Given the description of an element on the screen output the (x, y) to click on. 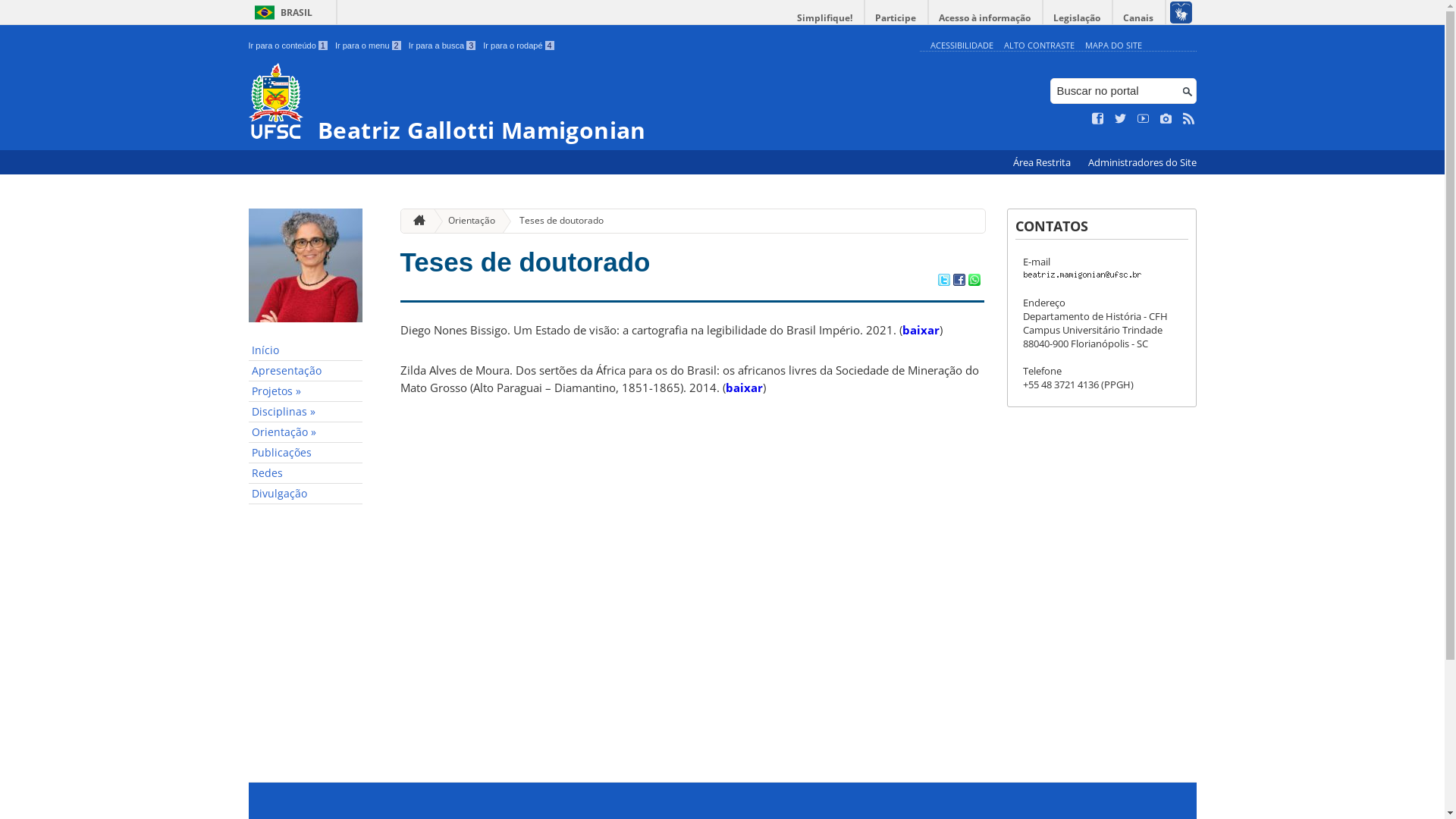
MAPA DO SITE Element type: text (1112, 44)
Veja no Instagram Element type: hover (1166, 118)
Ir para o menu 2 Element type: text (368, 45)
Compartilhar no Twitter Element type: hover (943, 280)
Redes Element type: text (305, 473)
Simplifique! Element type: text (825, 18)
baixar Element type: text (920, 329)
Administradores do Site Element type: text (1141, 162)
Siga no Twitter Element type: hover (1120, 118)
Ir para a busca 3 Element type: text (442, 45)
Compartilhar no WhatsApp Element type: hover (973, 280)
BRASIL Element type: text (280, 12)
Curta no Facebook Element type: hover (1098, 118)
ACESSIBILIDADE Element type: text (960, 44)
Canais Element type: text (1138, 18)
Compartilhar no Facebook Element type: hover (958, 280)
Teses de doutorado Element type: text (525, 261)
Participe Element type: text (895, 18)
ALTO CONTRASTE Element type: text (1039, 44)
Beatriz Gallotti Mamigonian Element type: text (580, 102)
baixar Element type: text (743, 387)
Teses de doutorado Element type: text (555, 220)
